Given the description of an element on the screen output the (x, y) to click on. 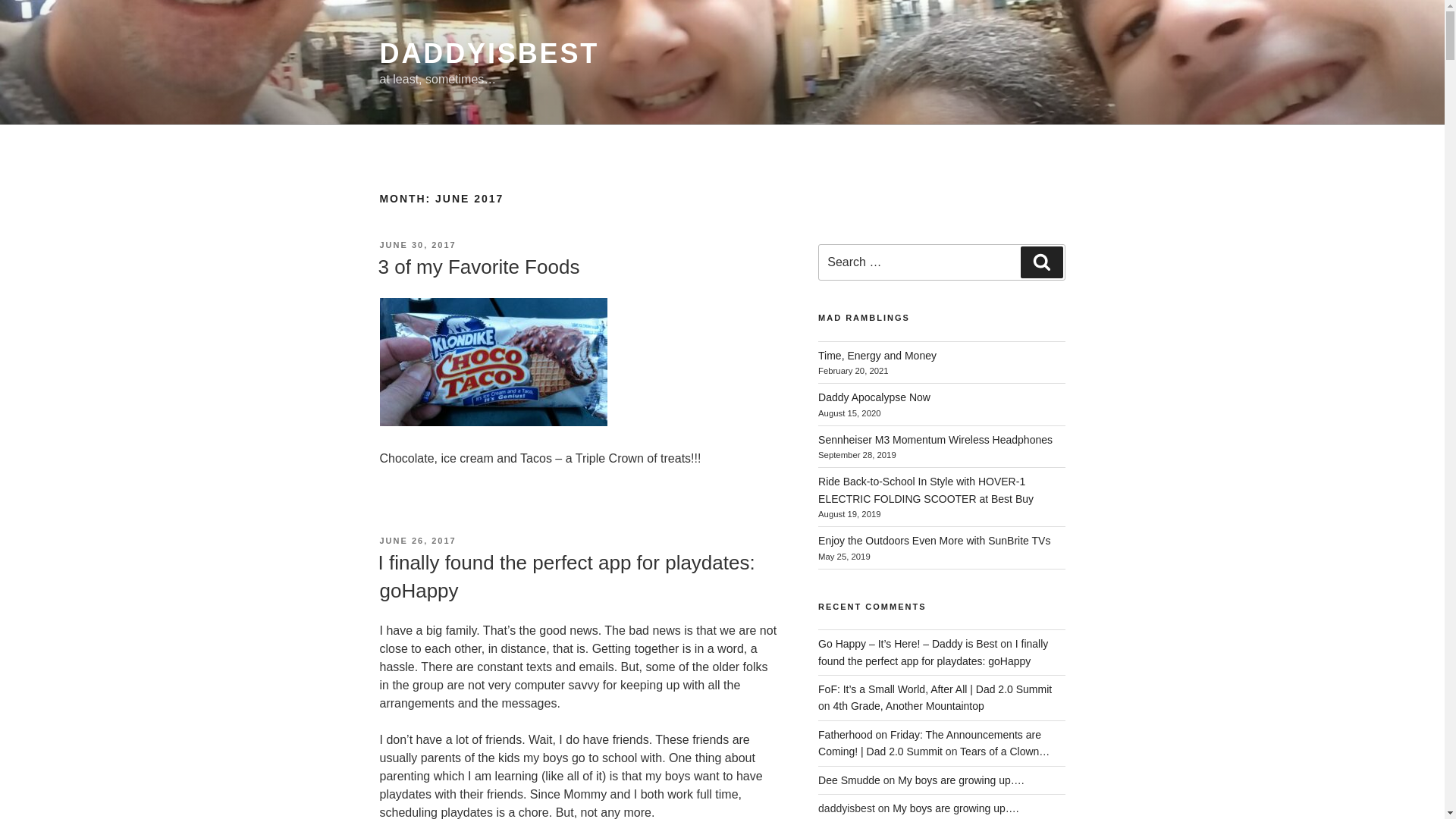
3 of my Favorite Foods (478, 266)
I finally found the perfect app for playdates: goHappy (565, 576)
Search (1041, 262)
JUNE 30, 2017 (416, 244)
Daddy Apocalypse Now (874, 397)
I finally found the perfect app for playdates: goHappy (933, 652)
Time, Energy and Money (877, 355)
4th Grade, Another Mountaintop (908, 705)
DADDYISBEST (488, 52)
JUNE 26, 2017 (416, 540)
Enjoy the Outdoors Even More with SunBrite TVs (933, 540)
Sennheiser M3 Momentum Wireless Headphones (935, 439)
